Given the description of an element on the screen output the (x, y) to click on. 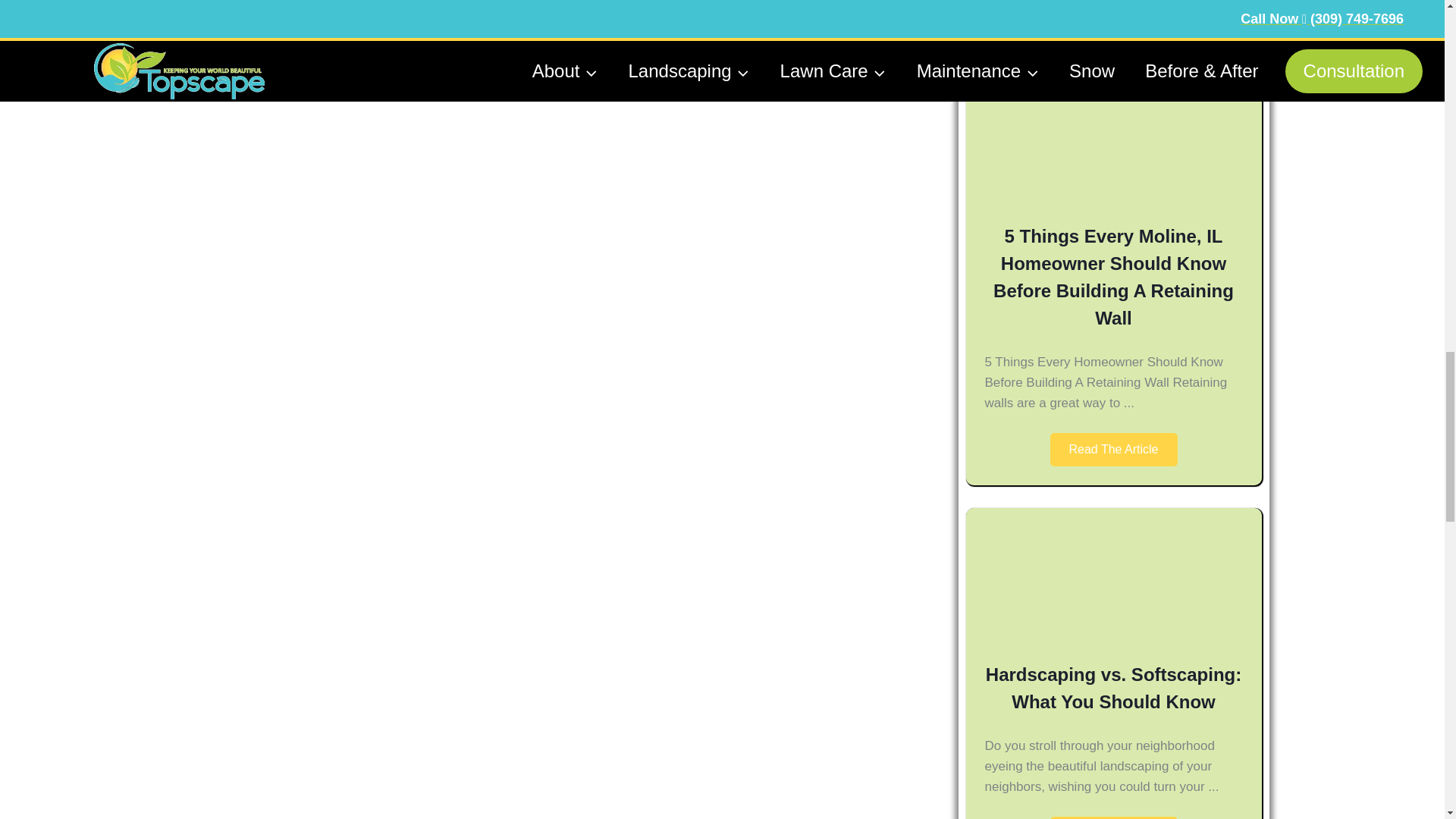
Hardscaping vs. Softscaping: What You Should Know (1113, 687)
Hardscaping vs. Softscaping: What You Should Know (1112, 631)
